Given the description of an element on the screen output the (x, y) to click on. 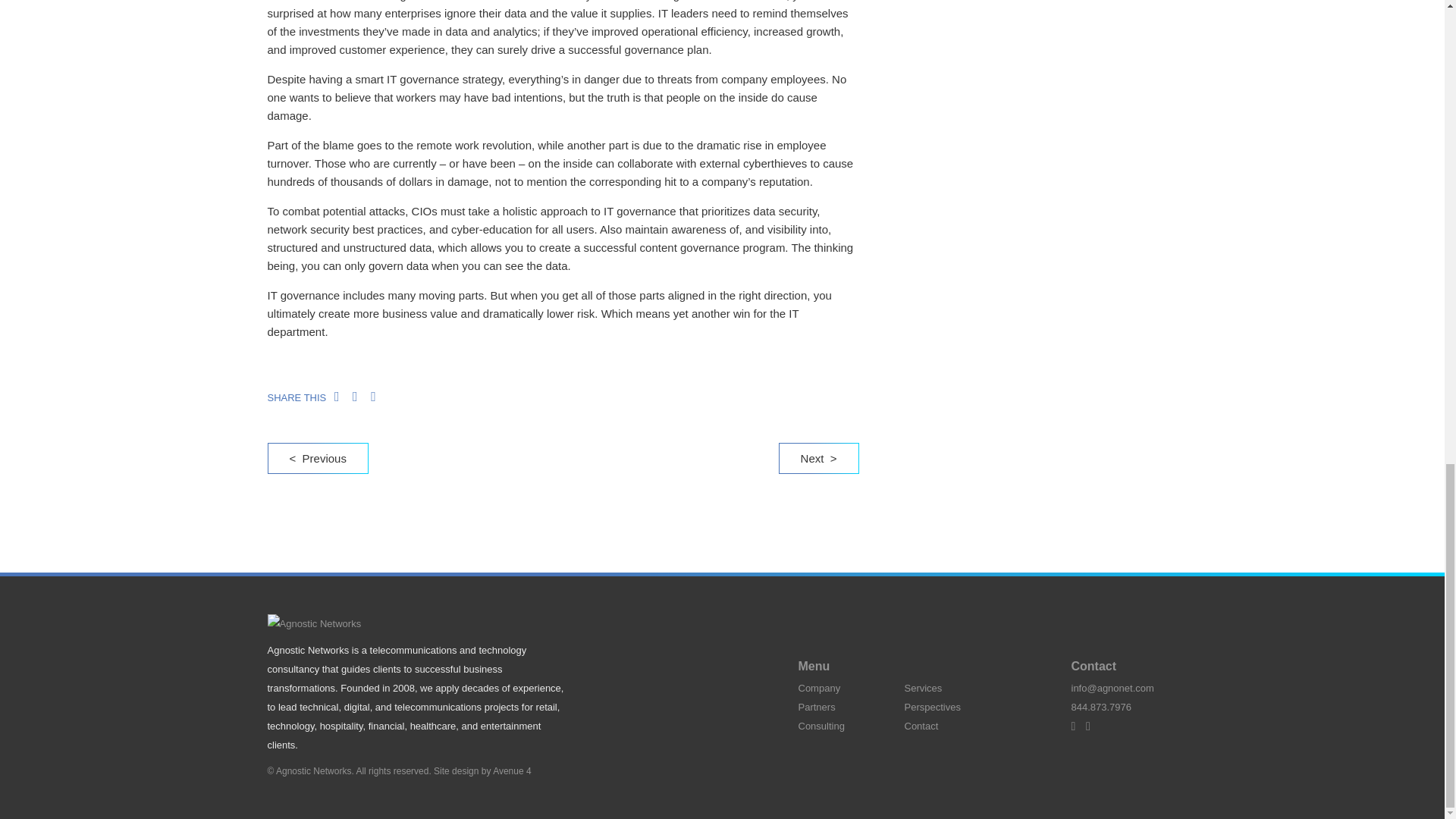
Partners (815, 706)
844.873.7976 (1100, 706)
Company (818, 687)
Twitter (1076, 726)
Consulting (820, 726)
Contact (920, 726)
Perspectives (931, 706)
Avenue 4 (512, 770)
Pinterest (1091, 726)
Services (923, 687)
